Given the description of an element on the screen output the (x, y) to click on. 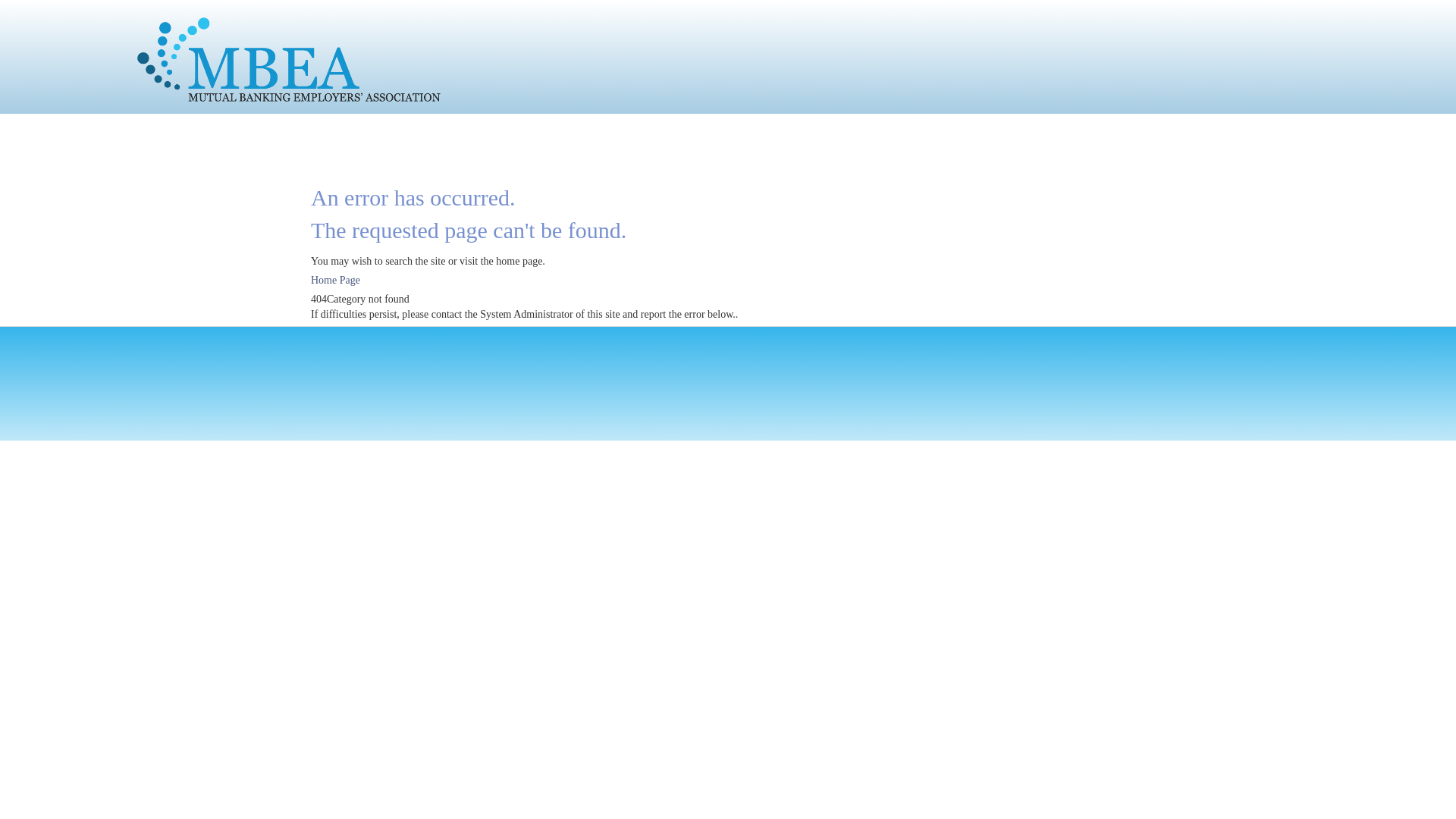
Home Page Element type: text (335, 279)
